Given the description of an element on the screen output the (x, y) to click on. 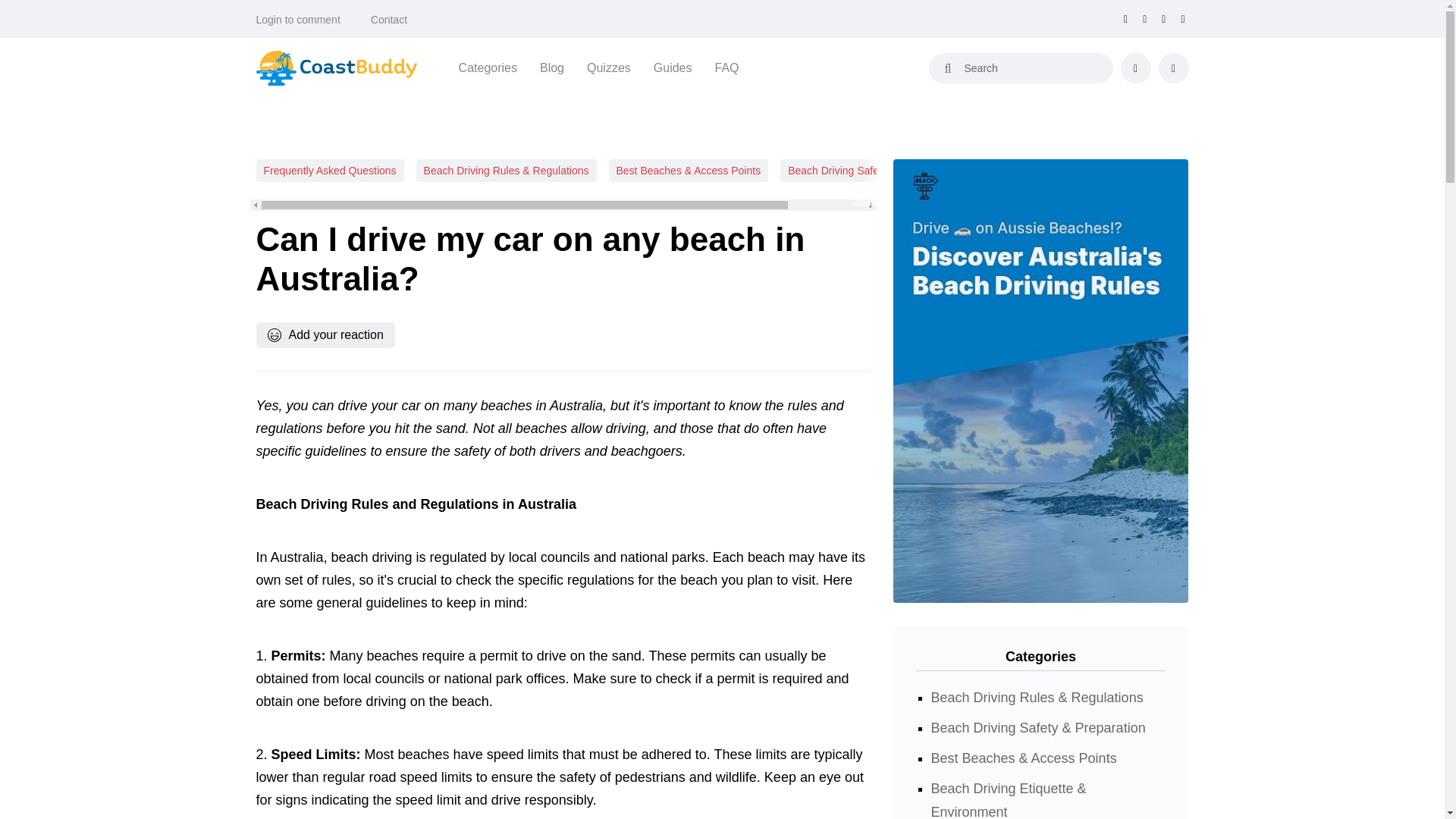
Categories (487, 67)
Contact (389, 19)
Login to comment (298, 19)
